Given the description of an element on the screen output the (x, y) to click on. 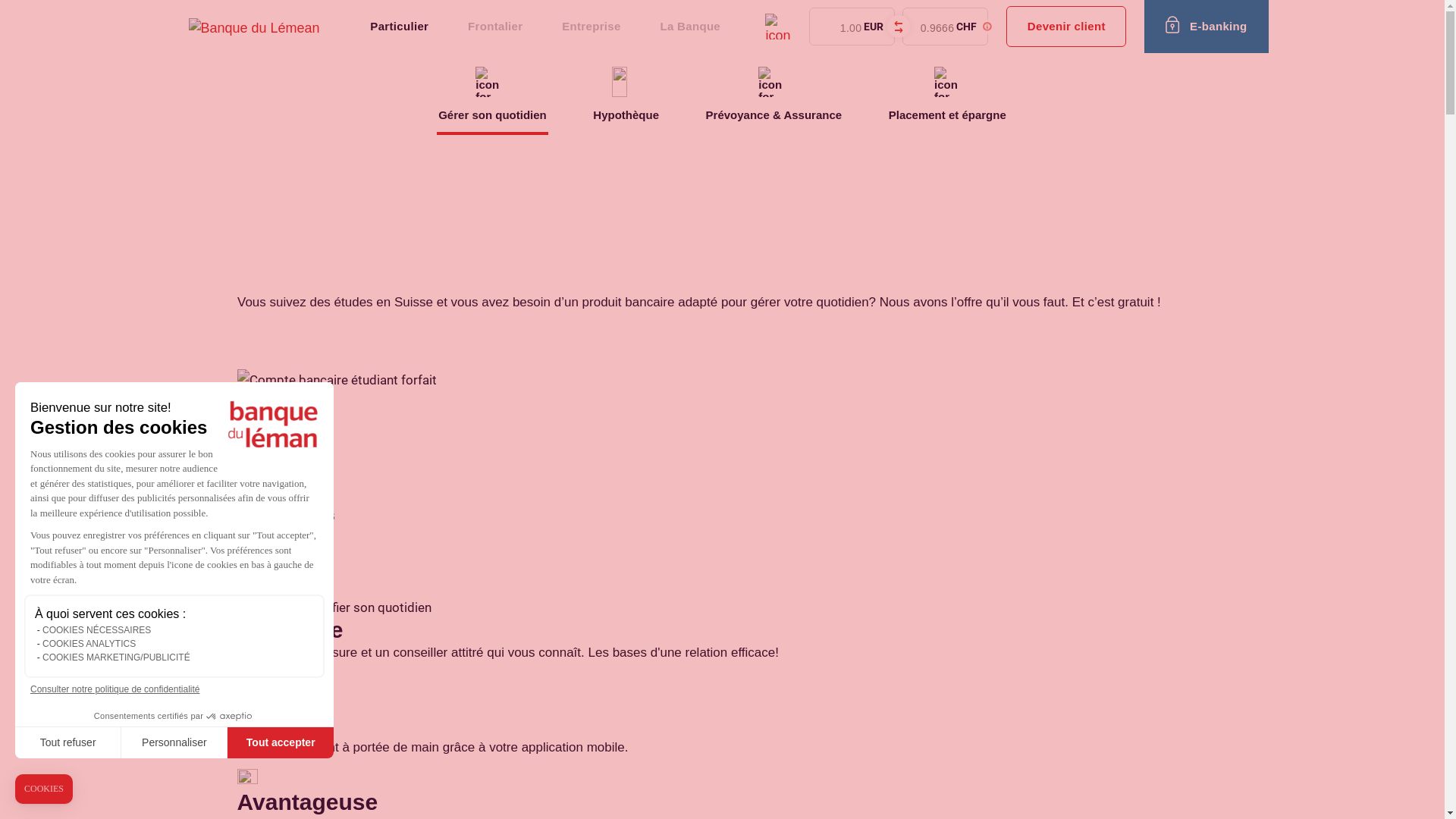
E-banking Element type: text (1205, 26)
Notre forfait Element type: text (287, 427)
La Banque Element type: text (690, 26)
Devenir client Element type: text (1066, 26)
CHF Element type: hover (931, 26)
Frontalier Element type: text (495, 26)
Offres loisirs Element type: text (290, 515)
Entreprise Element type: text (591, 26)
Retour Element type: text (267, 197)
EUR Element type: hover (838, 26)
Nos cartes Element type: text (282, 471)
Particulier Element type: text (399, 26)
